Given the description of an element on the screen output the (x, y) to click on. 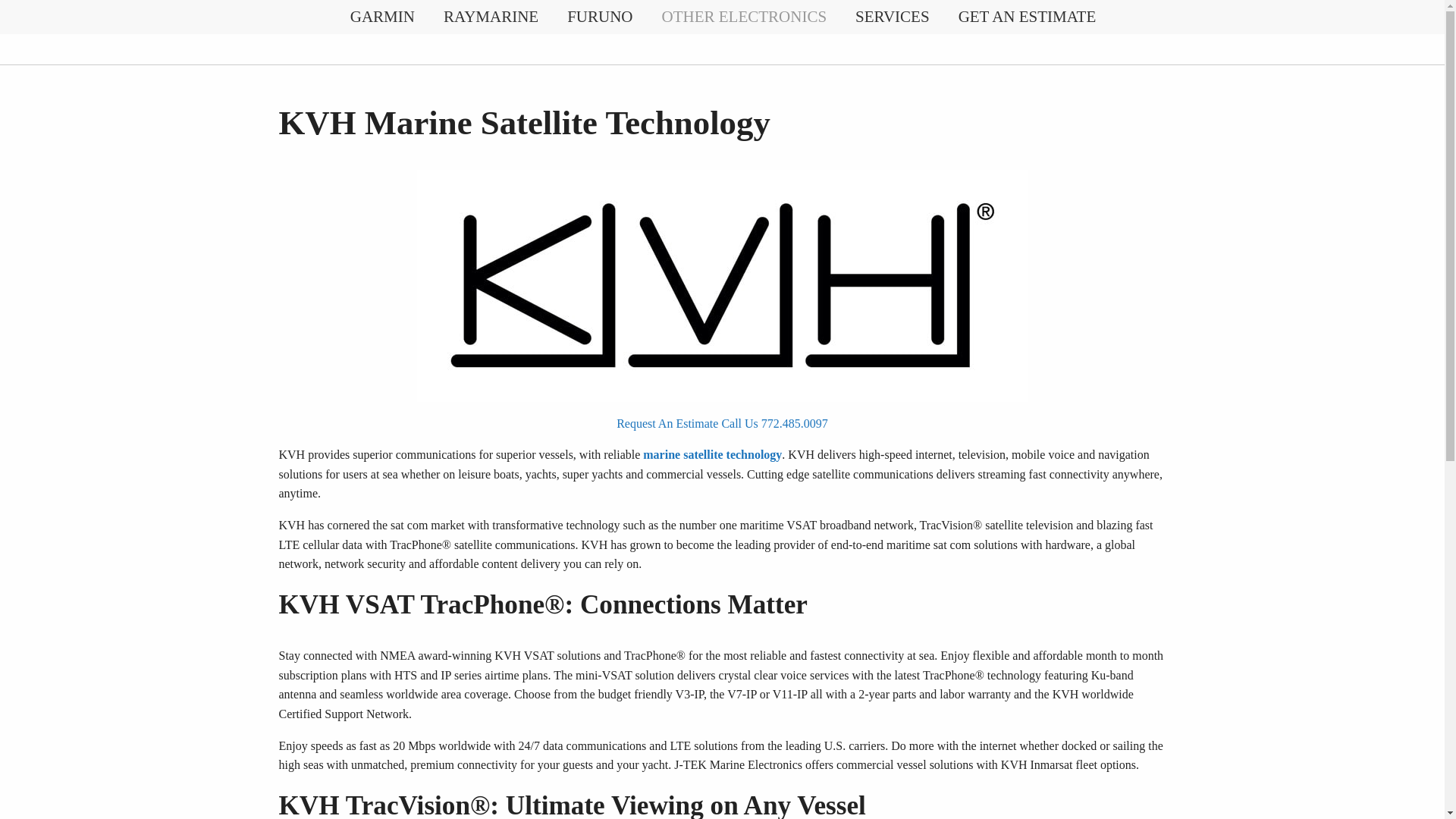
Request An Estimate (666, 422)
GET AN ESTIMATE (1027, 17)
FURUNO (599, 17)
marine satellite technology (712, 454)
RAYMARINE (490, 17)
GARMIN (381, 17)
SERVICES (892, 17)
OTHER ELECTRONICS (744, 17)
Call Us 772.485.0097 (773, 422)
